Given the description of an element on the screen output the (x, y) to click on. 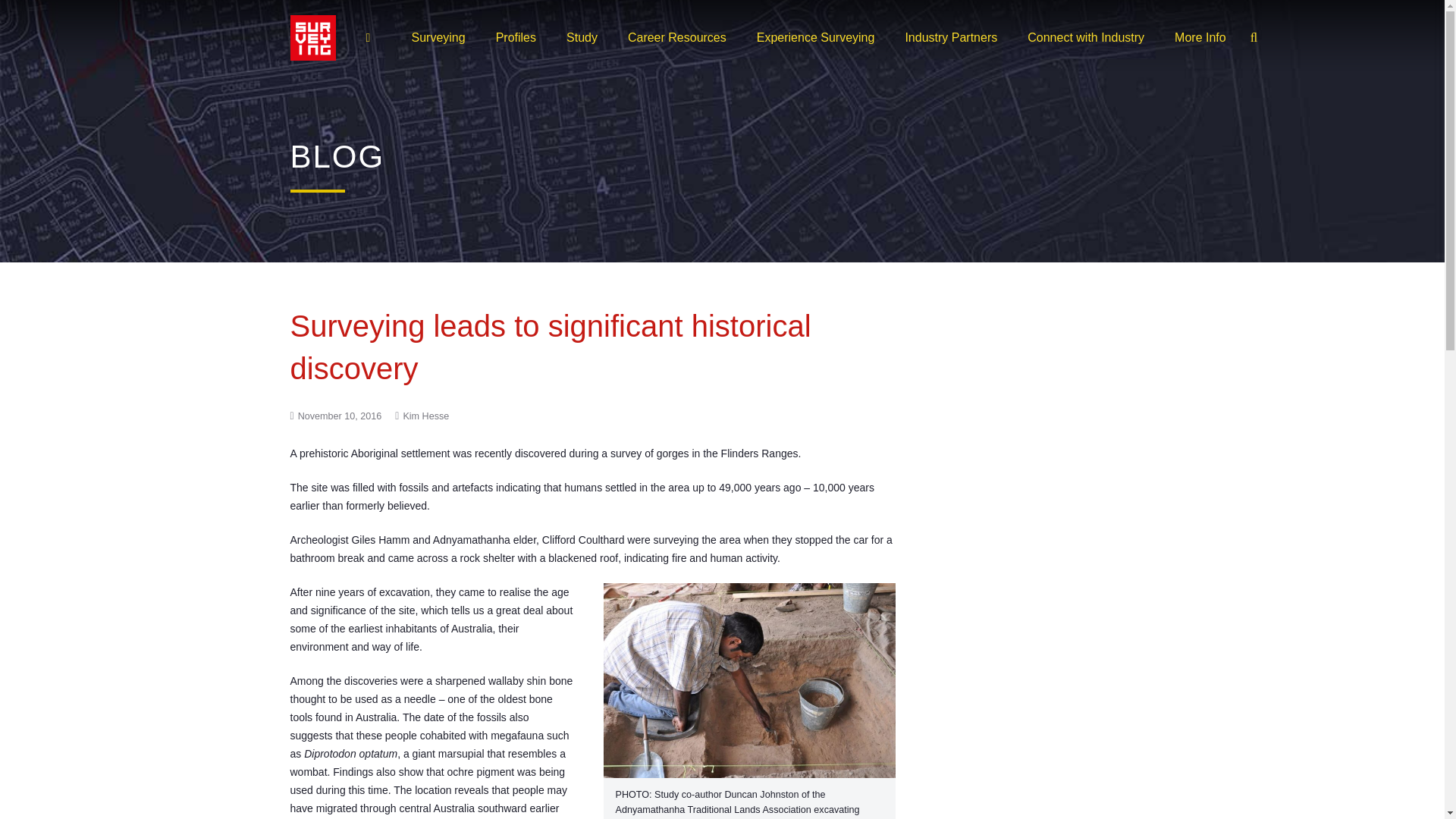
Surveying (438, 37)
Study (581, 37)
Profiles (515, 37)
